Given the description of an element on the screen output the (x, y) to click on. 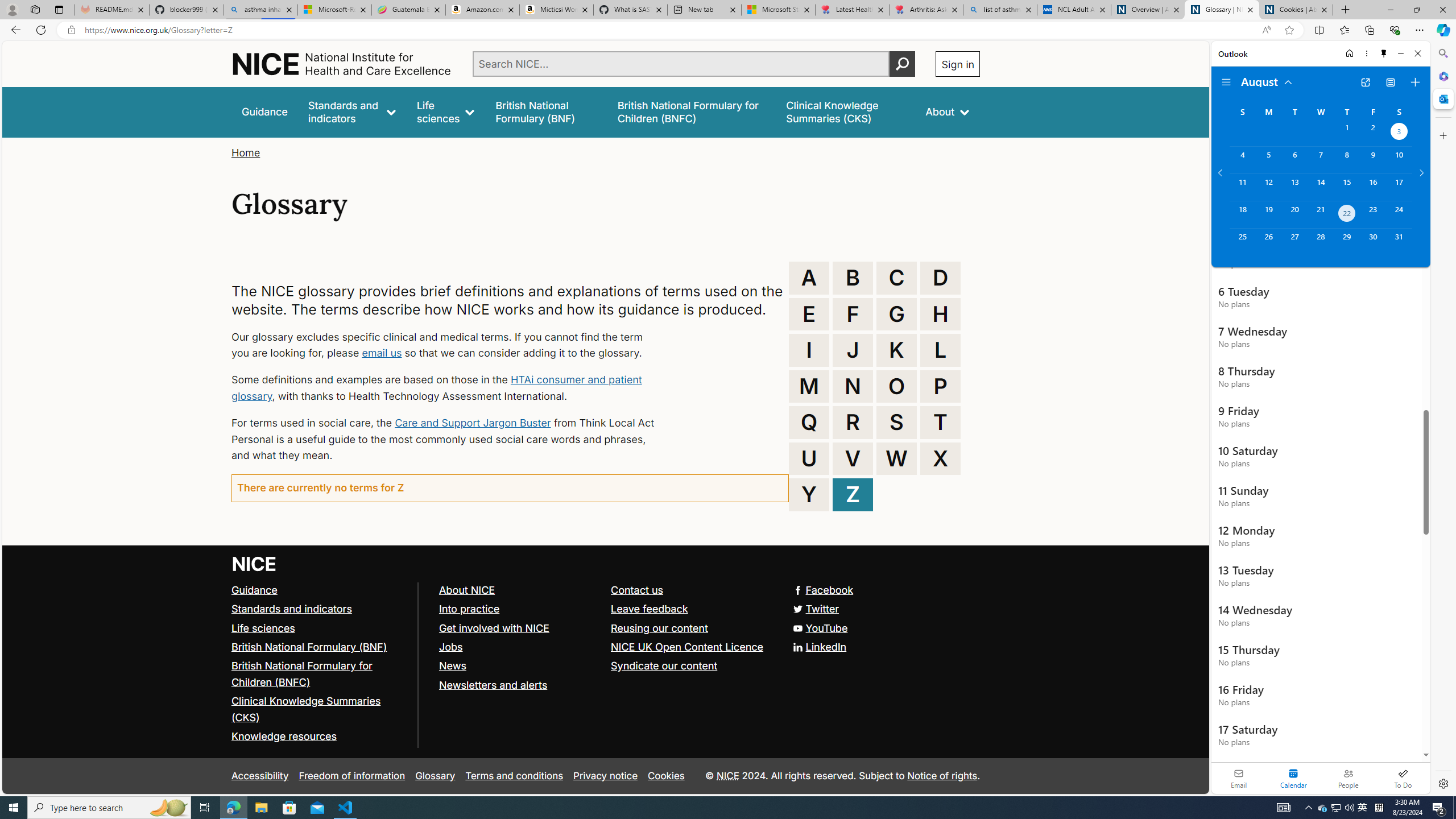
Sunday, August 11, 2024.  (1242, 186)
Friday, August 9, 2024.  (1372, 159)
Open in new tab (1365, 82)
Newsletters and alerts (492, 684)
Wednesday, August 7, 2024.  (1320, 159)
Perform search (902, 63)
Twitter (605, 609)
Saturday, August 31, 2024.  (1399, 241)
A (809, 277)
